Given the description of an element on the screen output the (x, y) to click on. 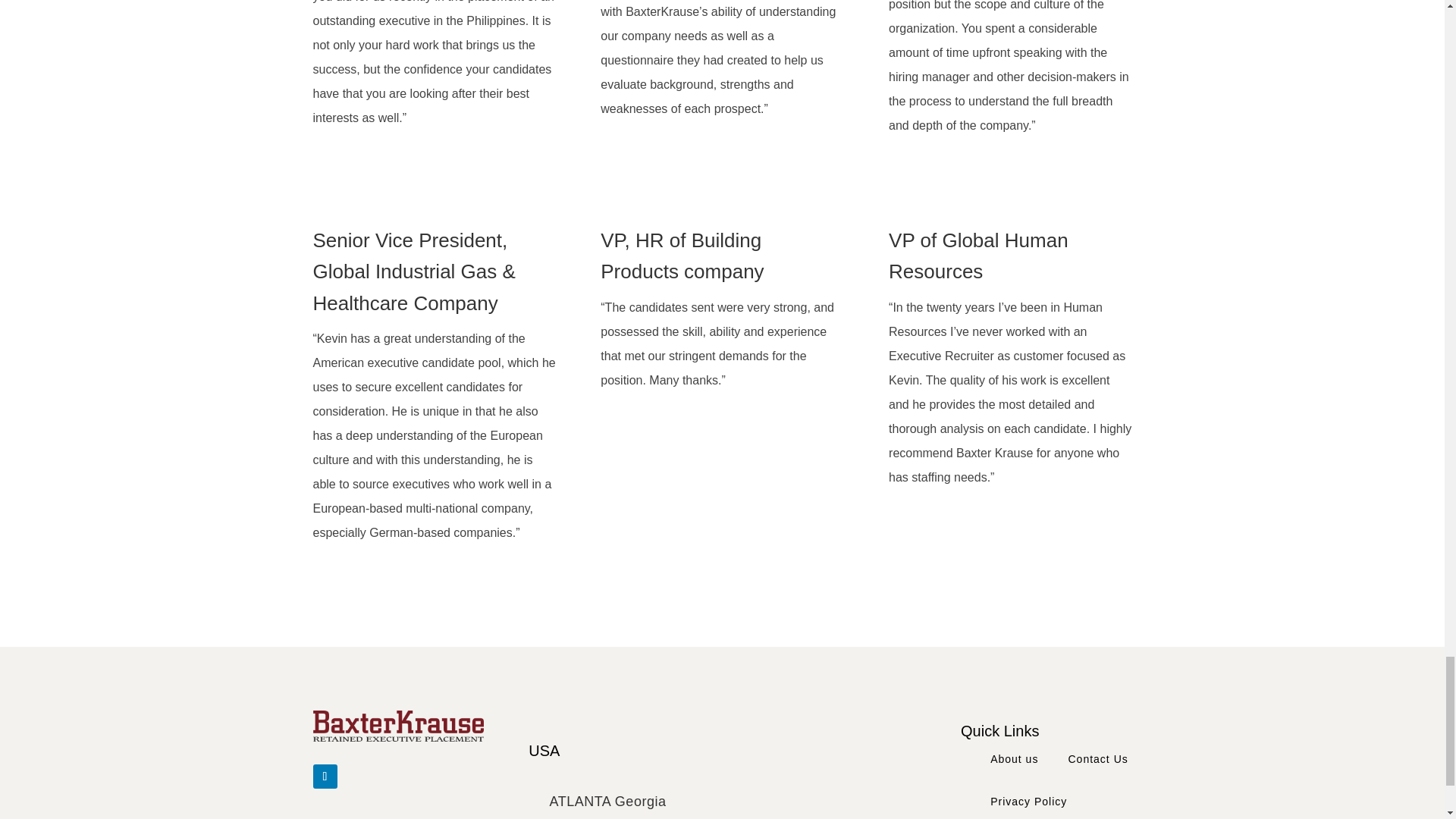
Follow on LinkedIn (324, 776)
Contact Us (1096, 758)
BaxterKrause logo (398, 726)
About us (1014, 758)
Privacy Policy (1028, 800)
